Given the description of an element on the screen output the (x, y) to click on. 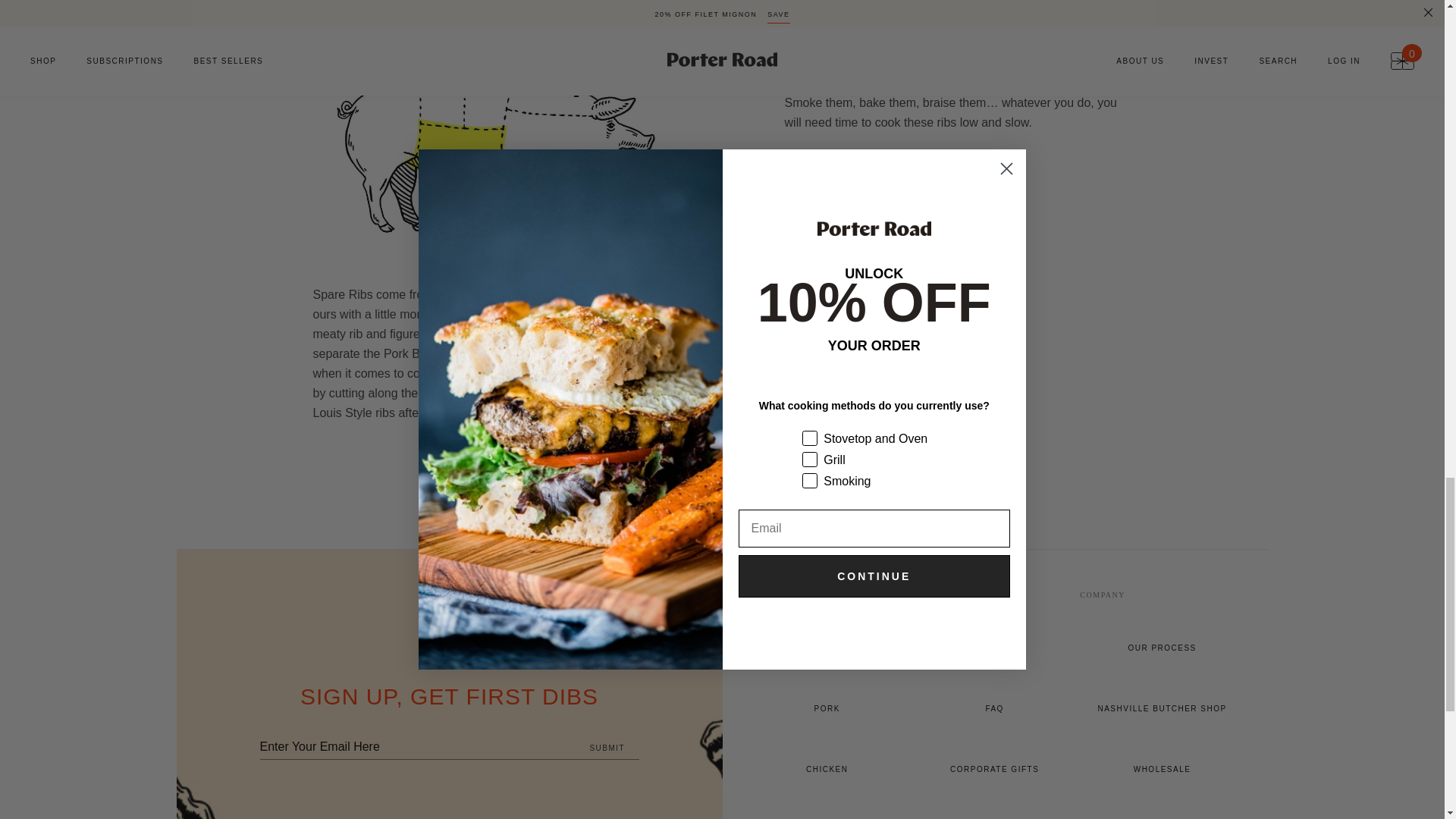
Submit (606, 748)
